Given the description of an element on the screen output the (x, y) to click on. 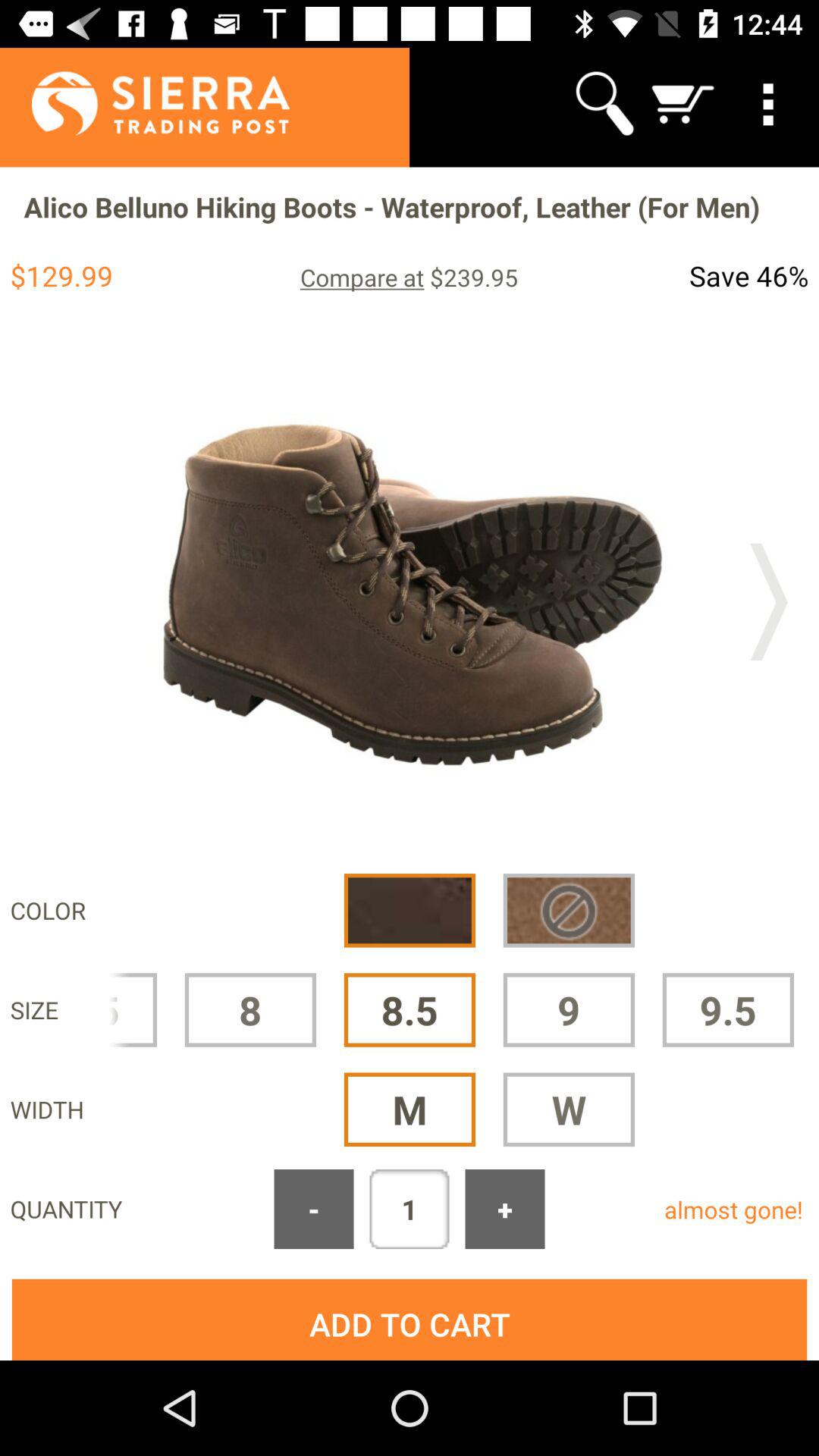
flip to the + button (504, 1208)
